Given the description of an element on the screen output the (x, y) to click on. 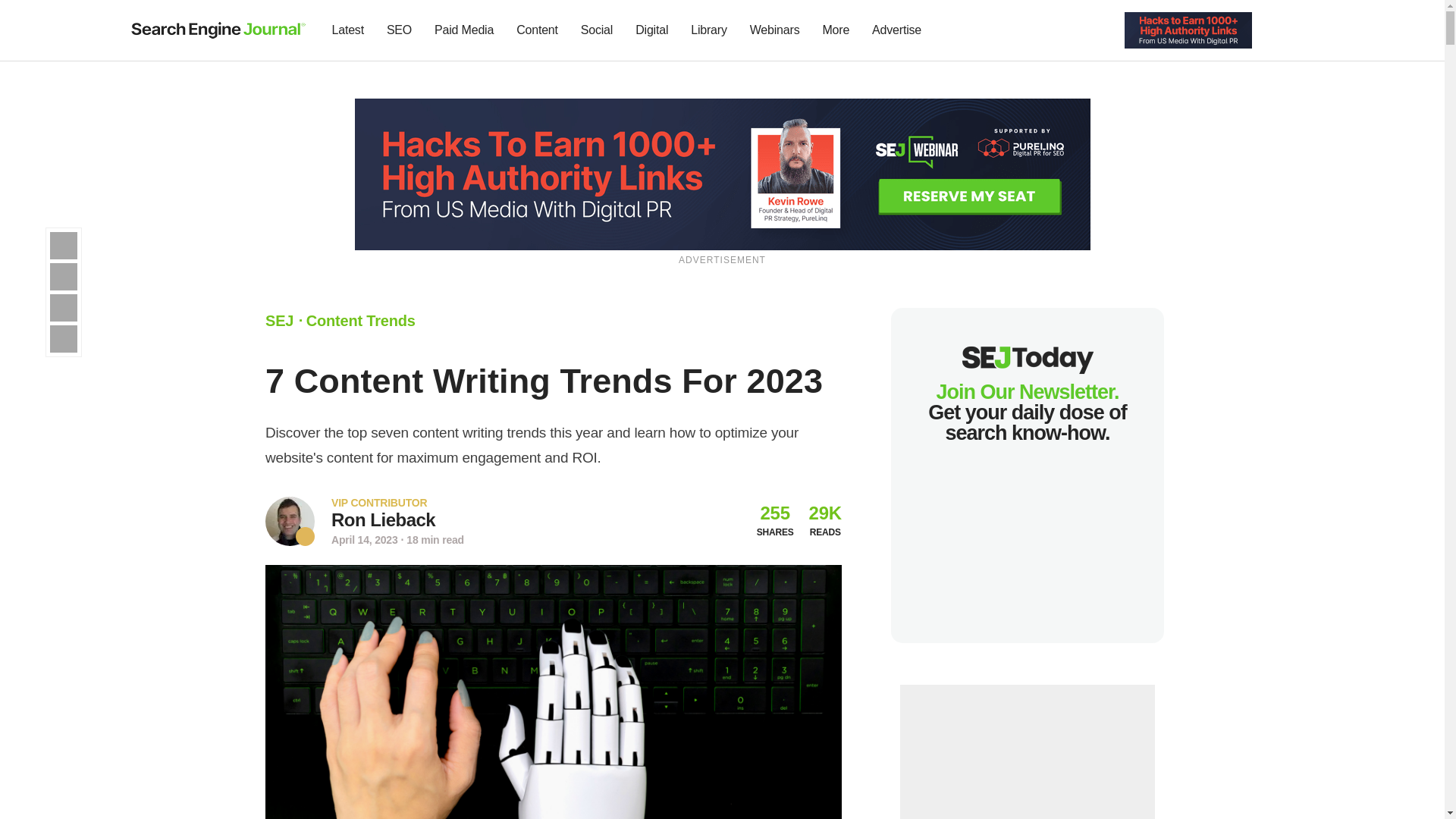
Paid Media (464, 30)
Register For Free (722, 172)
Go to Author Page (289, 521)
Register For Free (1187, 28)
Go to Author Page (383, 519)
Latest (347, 30)
Subscribe to our Newsletter (1277, 30)
